Given the description of an element on the screen output the (x, y) to click on. 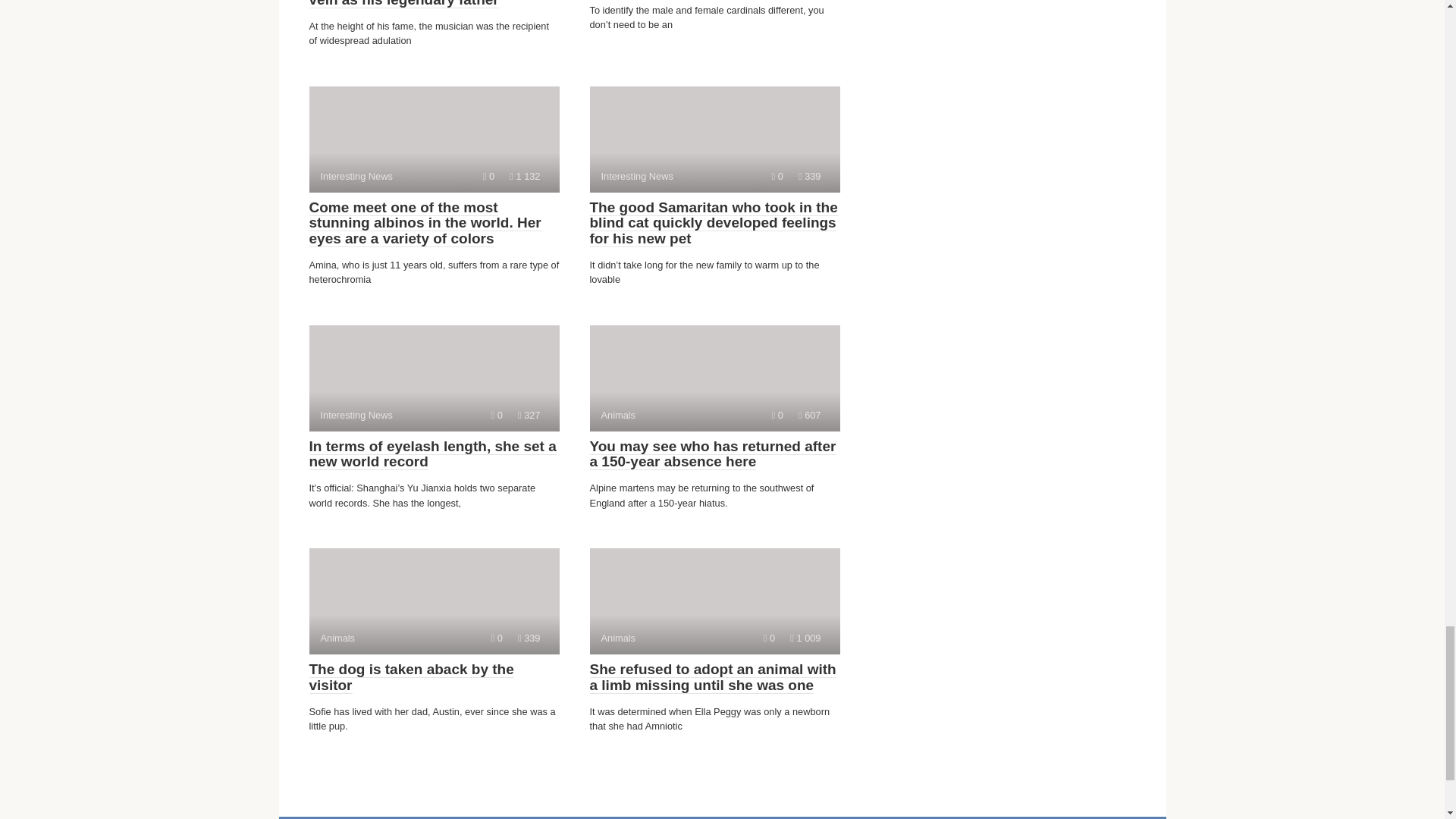
Interesting News (528, 817)
You may see who has returned after a 150-year absence here (714, 378)
The dog is taken aback by the visitor (712, 454)
In terms of eyelash length, she set a new world record (410, 676)
Care (432, 454)
Positive (433, 139)
